Given the description of an element on the screen output the (x, y) to click on. 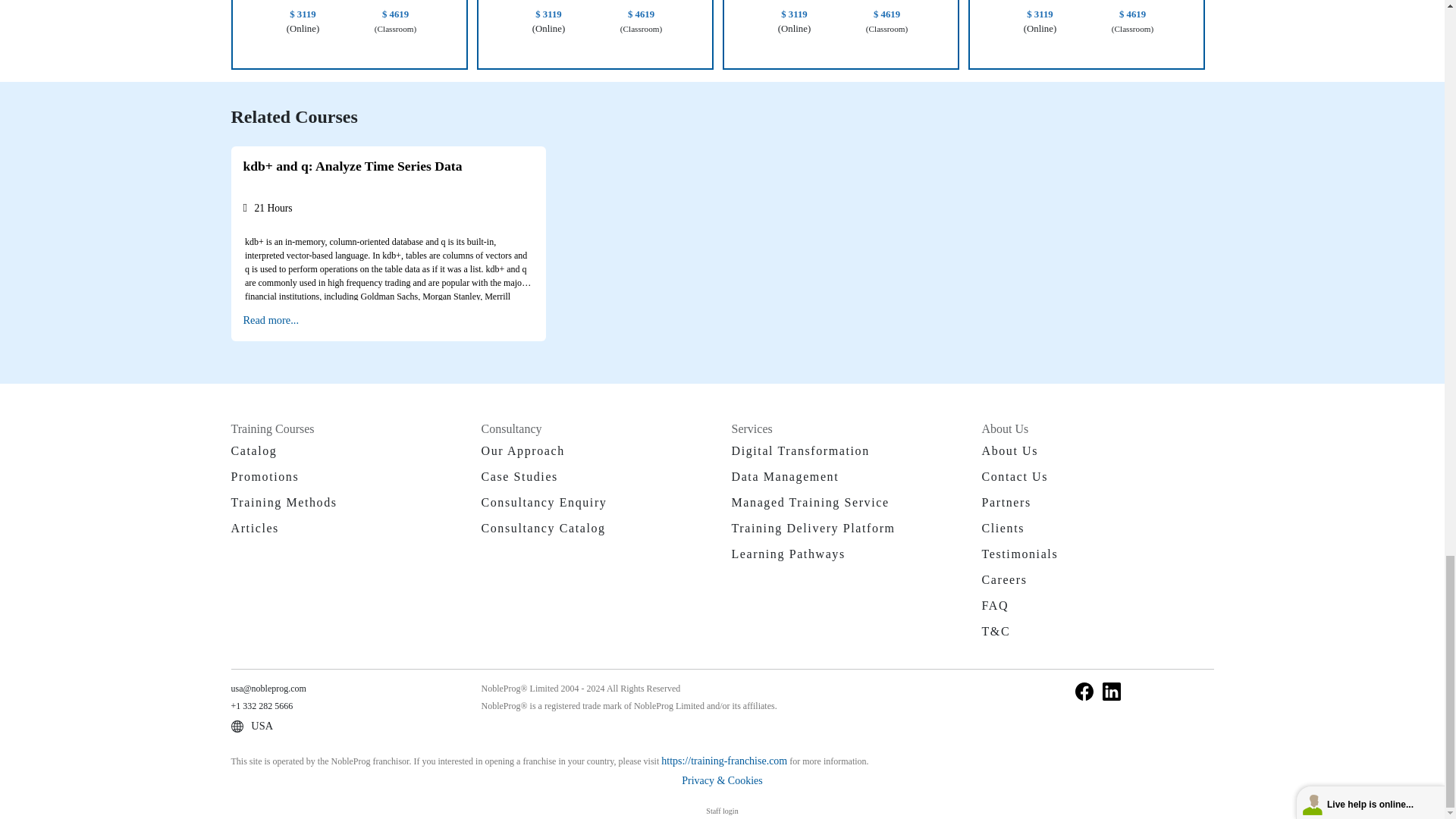
Follow NobleProg on Facebook (1084, 689)
Follow NobleProg on LinkedIn (1111, 689)
change website country or language (251, 726)
